Given the description of an element on the screen output the (x, y) to click on. 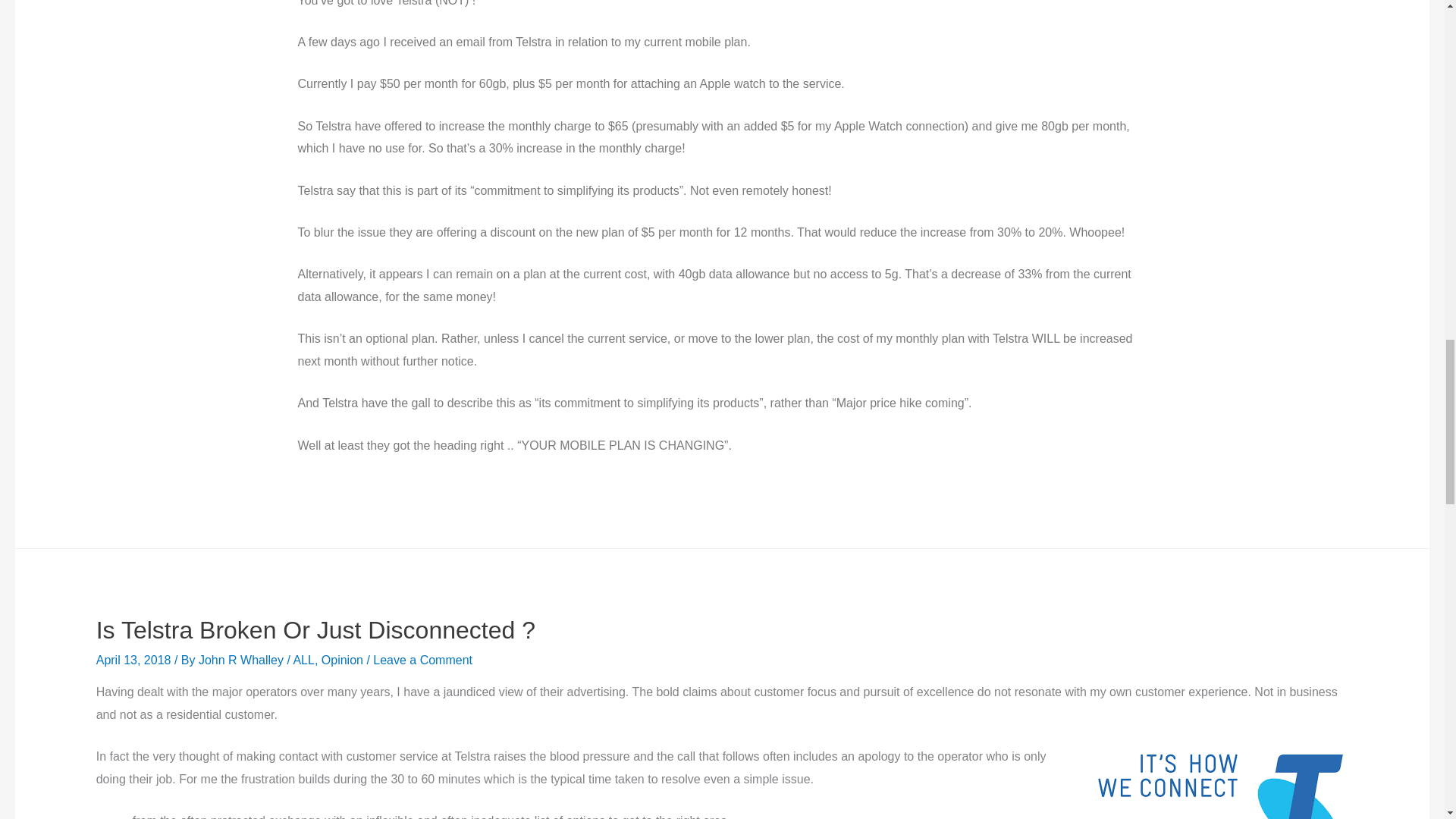
View all posts by John R Whalley (242, 659)
ALL (303, 659)
Leave a Comment (421, 659)
Opinion (341, 659)
John R Whalley (242, 659)
Is Telstra Broken Or Just Disconnected ? (315, 629)
